Given the description of an element on the screen output the (x, y) to click on. 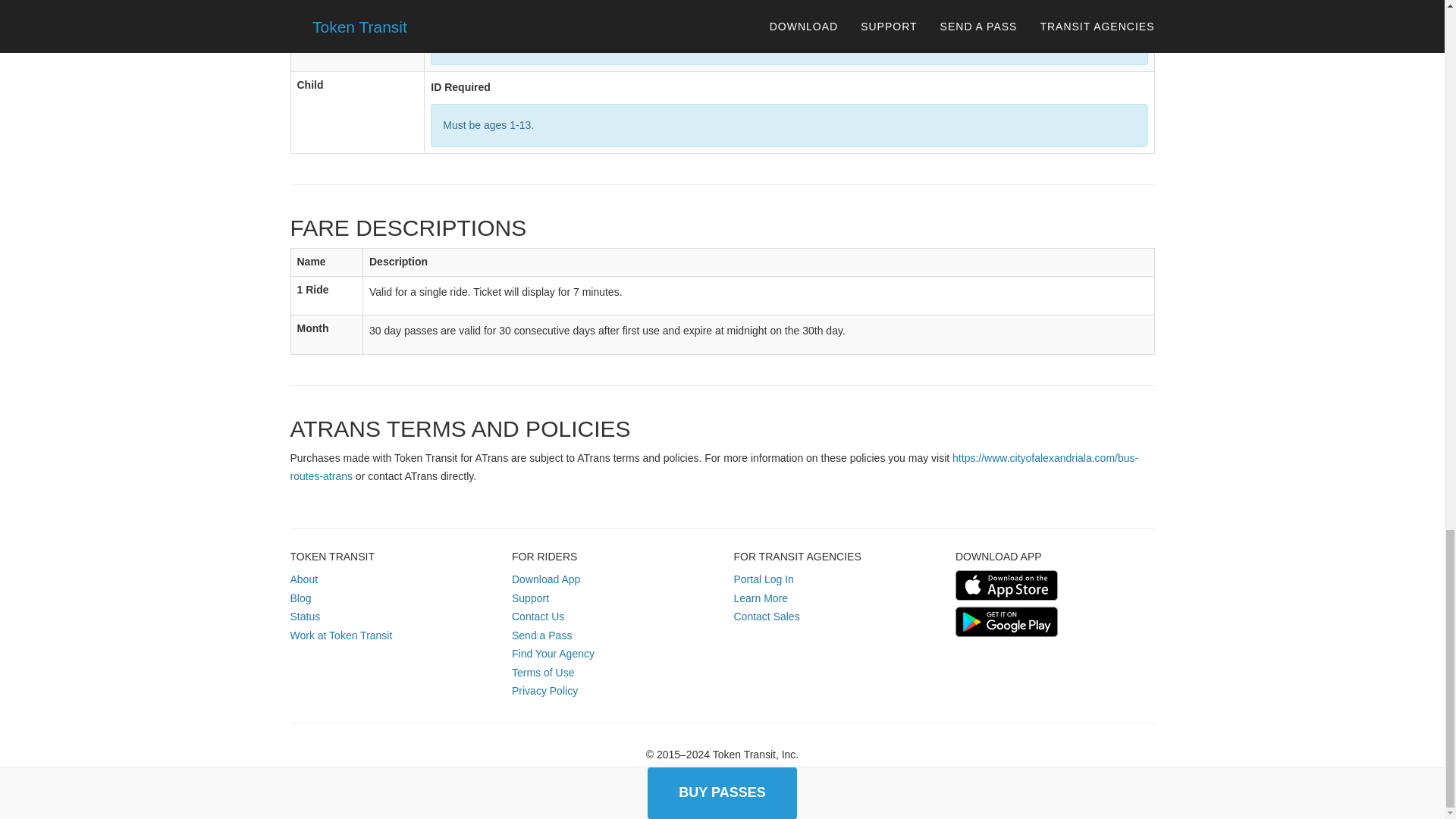
Send a Pass (542, 635)
Contact Us (538, 616)
Terms of Use (542, 672)
Privacy Policy (545, 690)
Work at Token Transit (340, 635)
Status (304, 616)
Contact Sales (766, 616)
Support (530, 598)
Find Your Agency (553, 653)
Download App (545, 579)
Portal Log In (763, 579)
About (303, 579)
Learn More (761, 598)
Blog (300, 598)
